Given the description of an element on the screen output the (x, y) to click on. 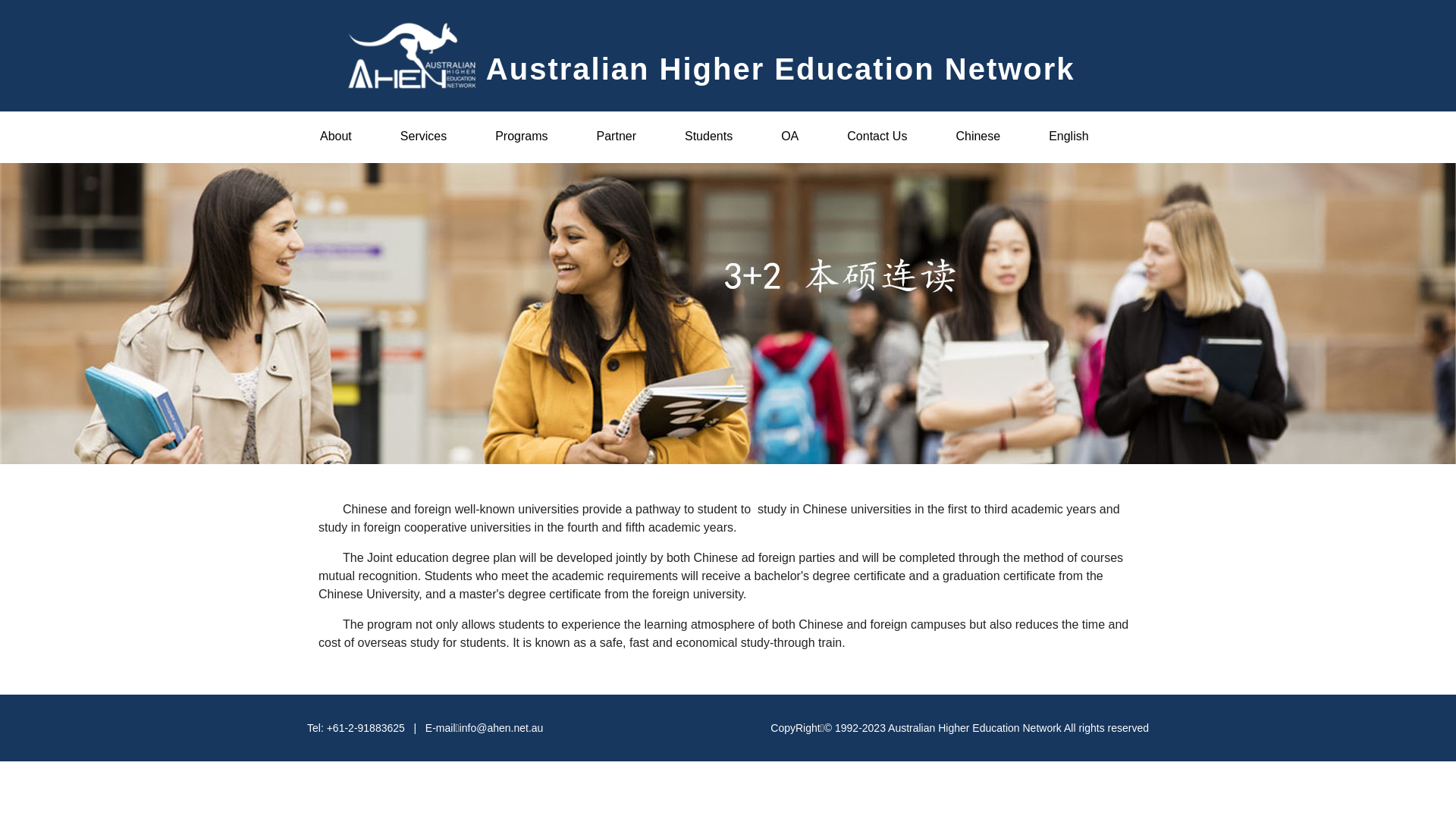
Partner Element type: text (616, 137)
Students Element type: text (708, 137)
Contact Us Element type: text (876, 137)
English Element type: text (1068, 137)
Services Element type: text (423, 137)
Programs Element type: text (520, 137)
Chinese Element type: text (977, 137)
+61-2-91883625 Element type: text (365, 727)
About Element type: text (335, 137)
OA Element type: text (789, 137)
